Given the description of an element on the screen output the (x, y) to click on. 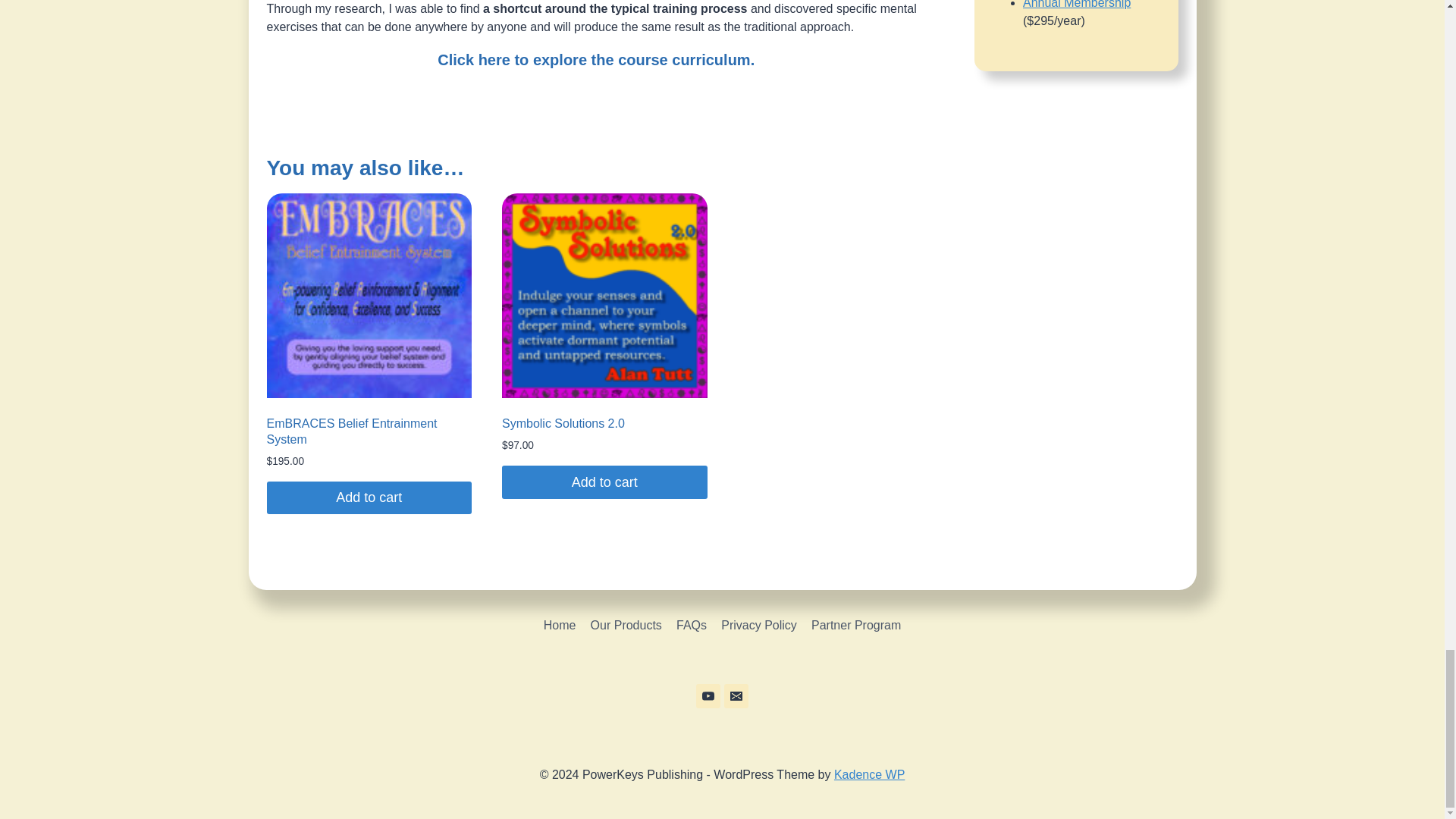
Symbolic Solutions 2.0 (563, 422)
Partner Program (855, 625)
Click here to explore the course curriculum. (596, 59)
Home (559, 625)
Kadence WP (869, 774)
FAQs (690, 625)
Our Products (625, 625)
Add to cart (604, 481)
Privacy Policy (759, 625)
Add to cart (368, 497)
